Given the description of an element on the screen output the (x, y) to click on. 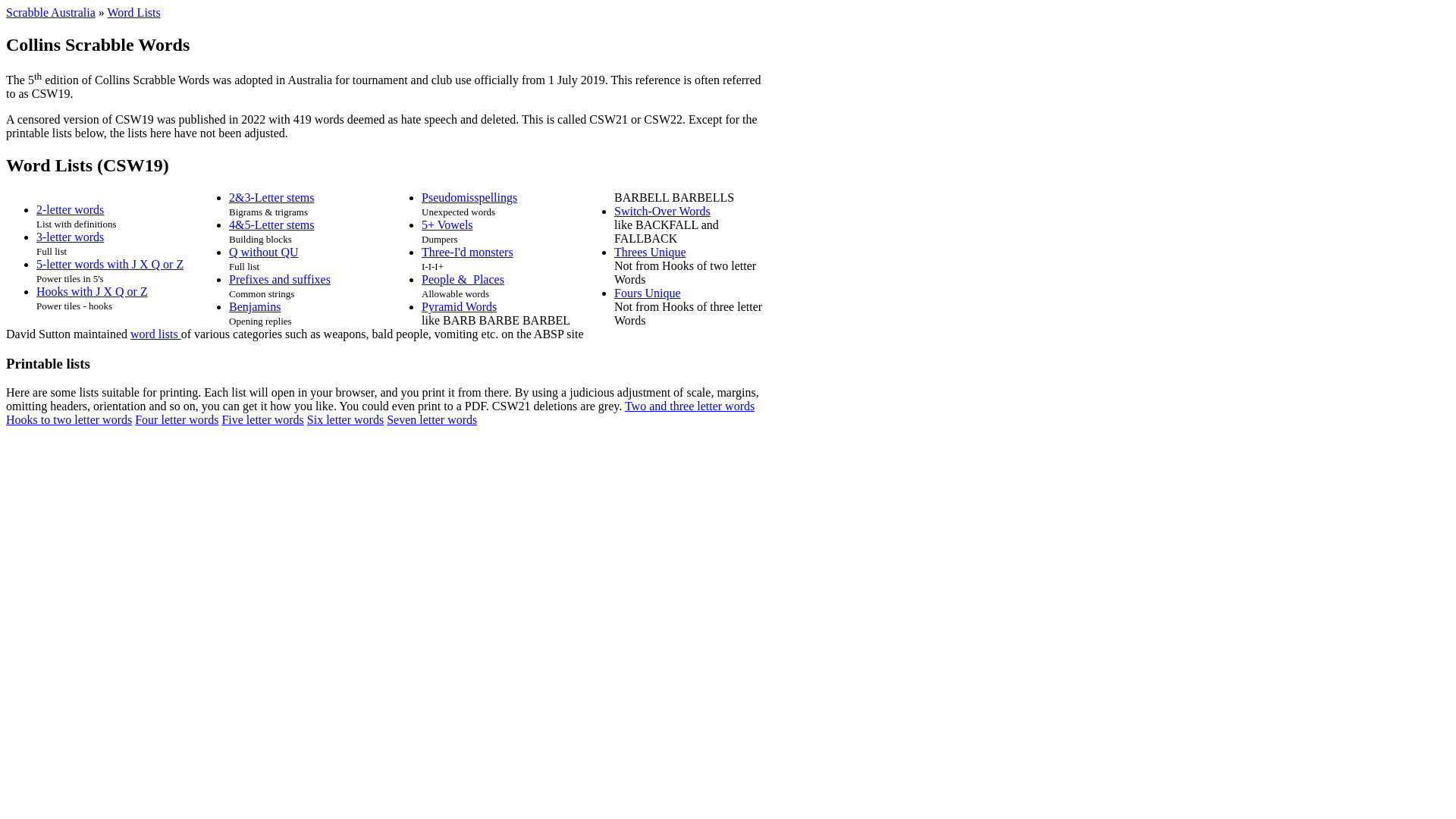
Pseudomisspellings Element type: text (469, 197)
Pyramid Words Element type: text (458, 306)
Five letter words Element type: text (262, 419)
Two and three letter words Element type: text (689, 405)
Three-I'd monsters Element type: text (467, 251)
2&3-Letter stems Element type: text (271, 197)
4&5-Letter stems Element type: text (271, 224)
Word Lists Element type: text (133, 12)
word lists Element type: text (155, 333)
Scrabble Australia Element type: text (50, 12)
Threes Unique Element type: text (650, 251)
Benjamins Element type: text (254, 306)
Hooks with J X Q or Z Element type: text (91, 291)
Prefixes and suffixes Element type: text (279, 279)
Hooks to two letter words Element type: text (68, 419)
3-letter words Element type: text (69, 236)
Q without QU Element type: text (263, 251)
Switch-Over Words Element type: text (662, 210)
Seven letter words Element type: text (431, 419)
People &  Places Element type: text (462, 279)
Four letter words Element type: text (176, 419)
5-letter words with J X Q or Z Element type: text (109, 263)
5+ Vowels Element type: text (447, 224)
2-letter words Element type: text (69, 209)
Six letter words Element type: text (345, 419)
Fours Unique Element type: text (647, 292)
